Given the description of an element on the screen output the (x, y) to click on. 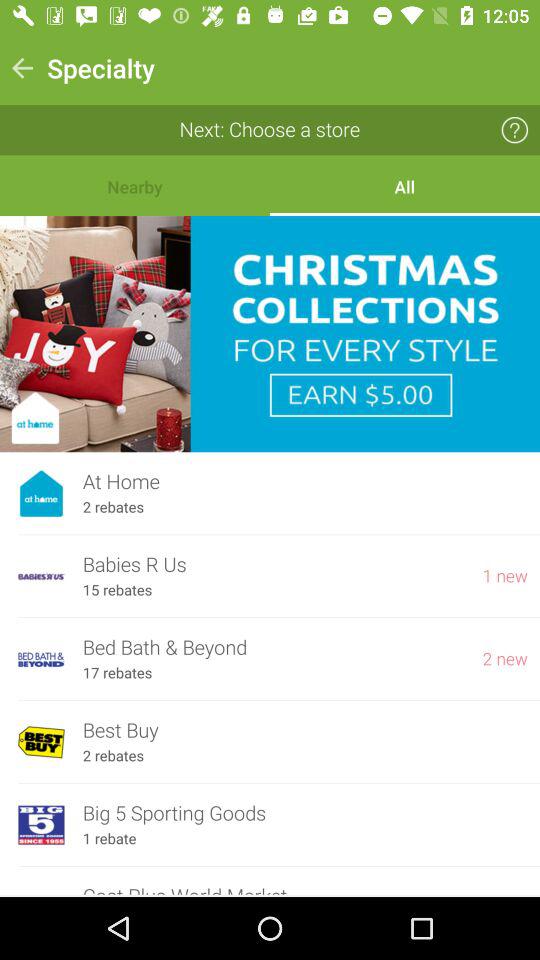
launch the icon below 15 rebates icon (273, 647)
